Given the description of an element on the screen output the (x, y) to click on. 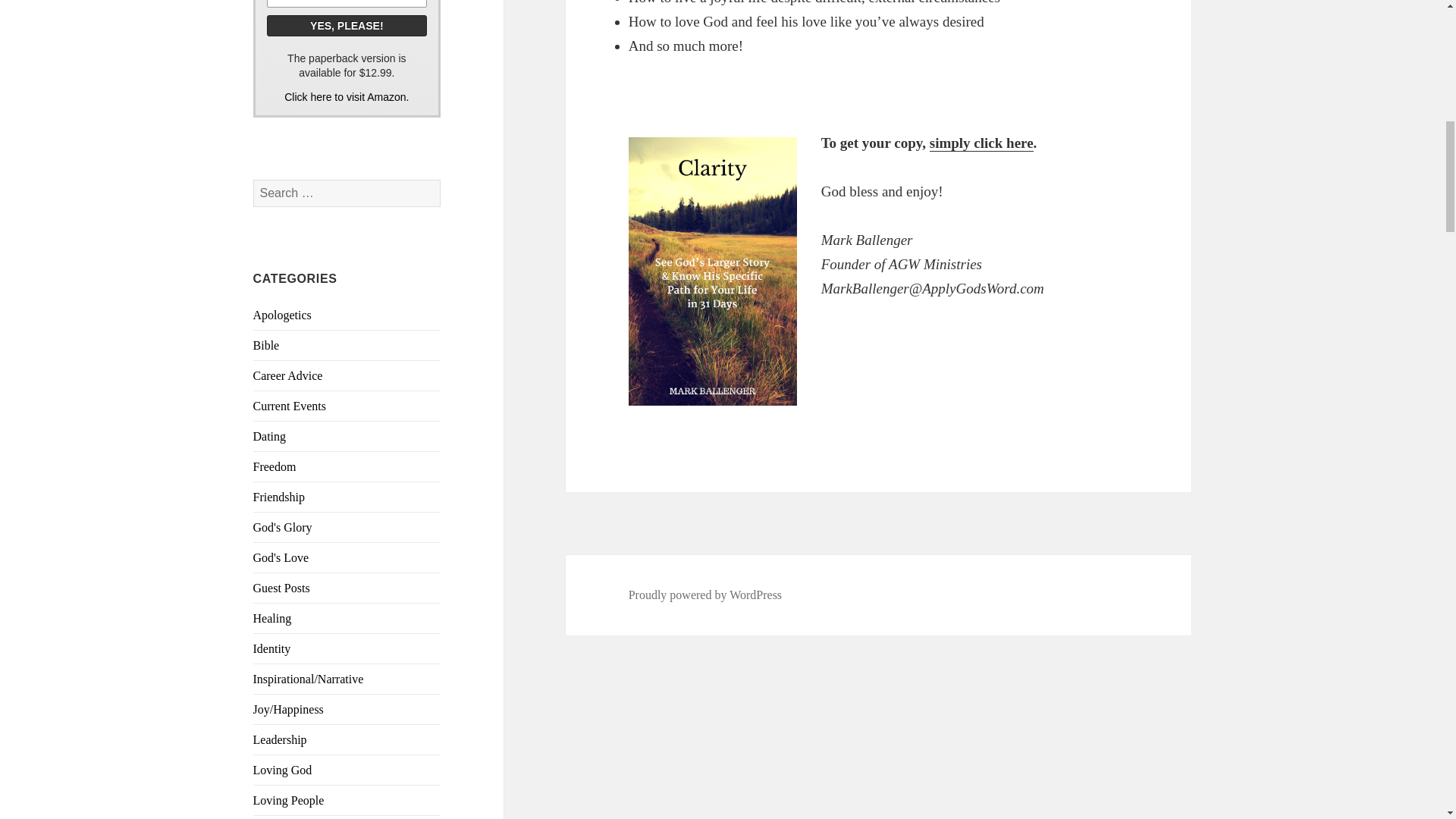
Loving People (288, 799)
Click here to visit Amazon. (346, 96)
God's Love (280, 557)
Leadership (280, 739)
YES, PLEASE! (347, 25)
Apologetics (282, 314)
Bible (266, 345)
Healing (272, 617)
God's Glory (283, 526)
Identity (272, 648)
Friendship (278, 496)
Guest Posts (281, 587)
